Given the description of an element on the screen output the (x, y) to click on. 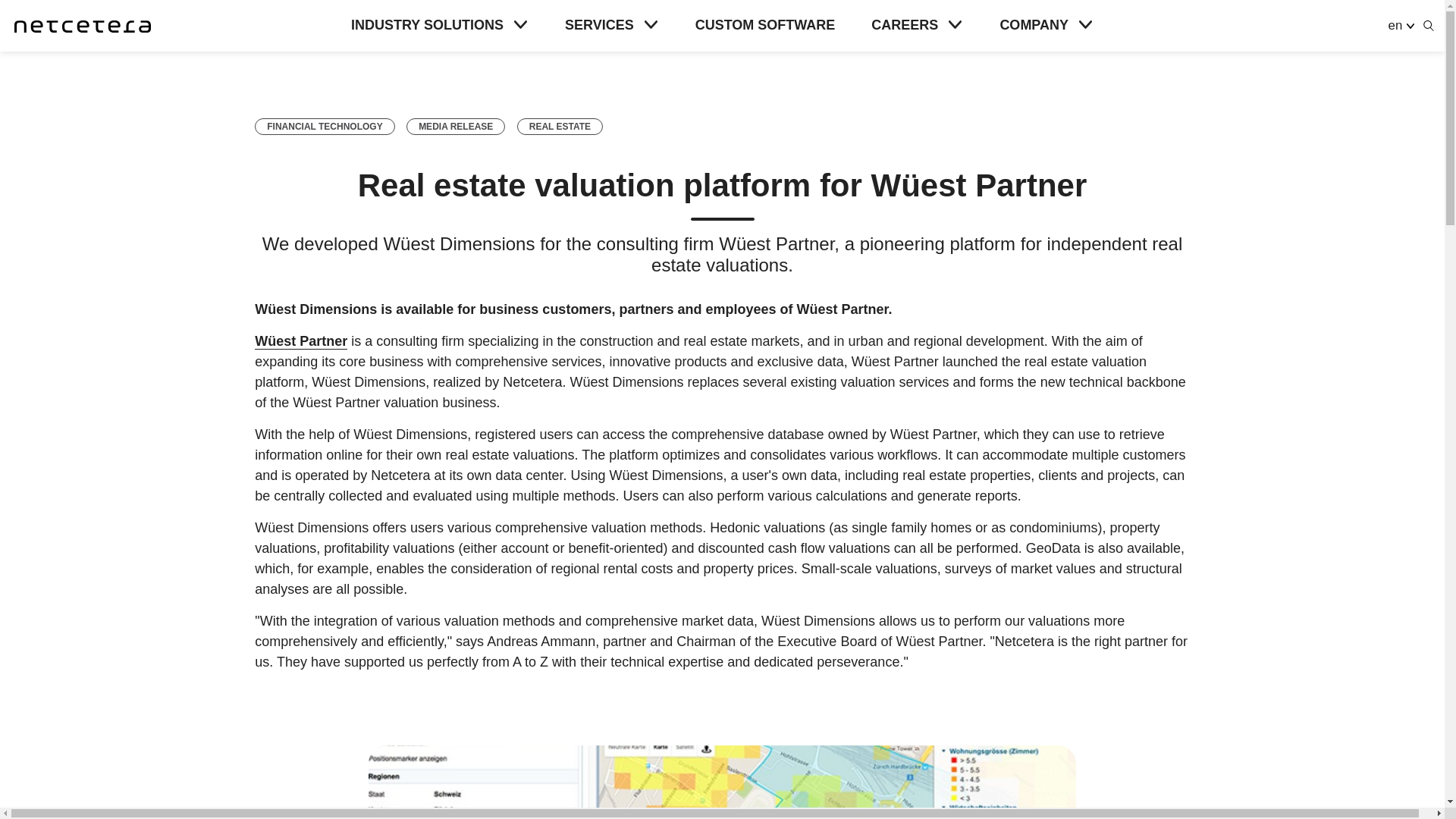
CUSTOM SOFTWARE (765, 25)
COMPANY (1045, 25)
A 25-year success story in digital Banking (324, 126)
en (1399, 25)
SERVICES (611, 25)
CAREERS (916, 25)
INDUSTRY SOLUTIONS (439, 25)
